Given the description of an element on the screen output the (x, y) to click on. 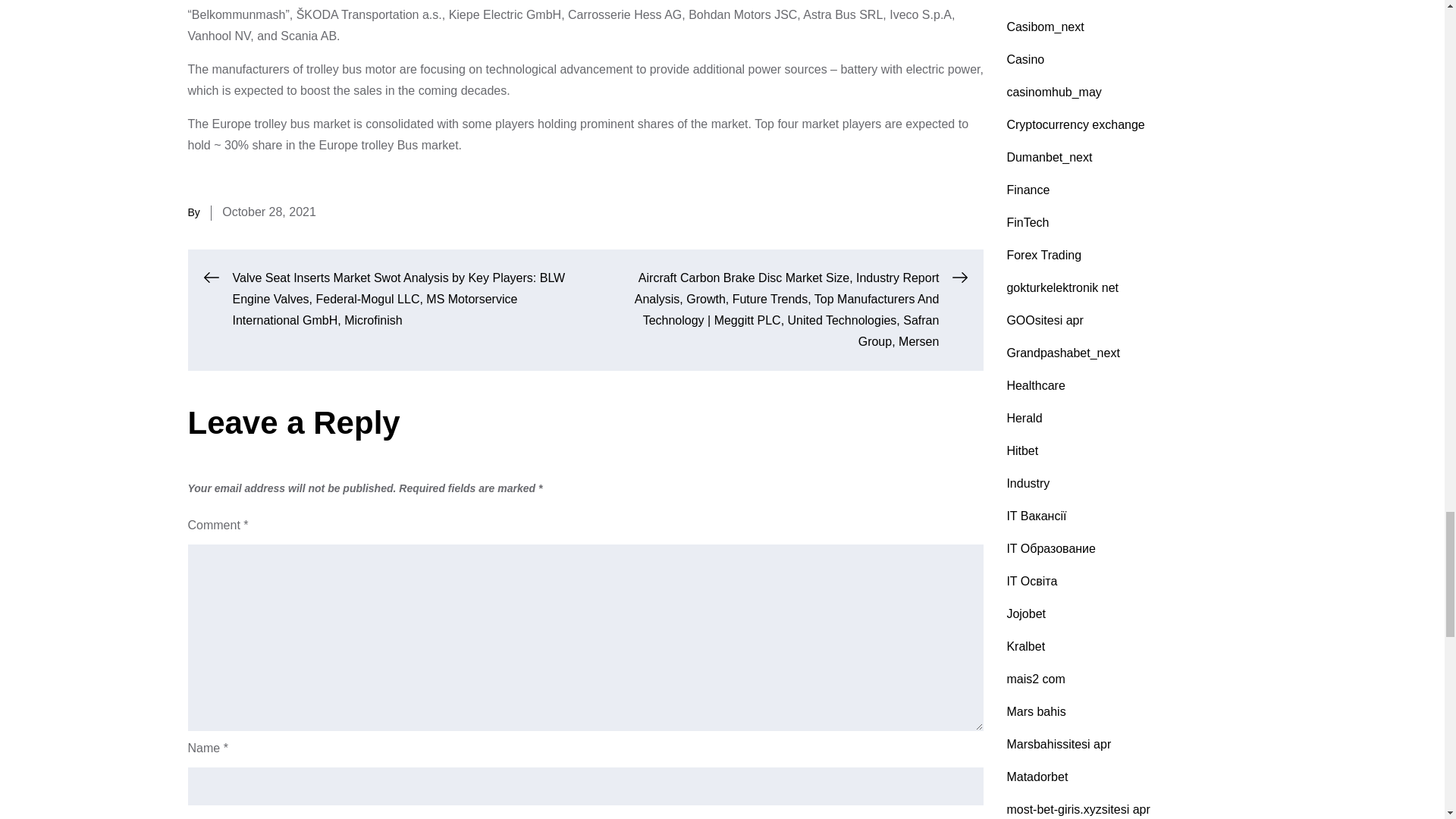
October 28, 2021 (268, 211)
